Given the description of an element on the screen output the (x, y) to click on. 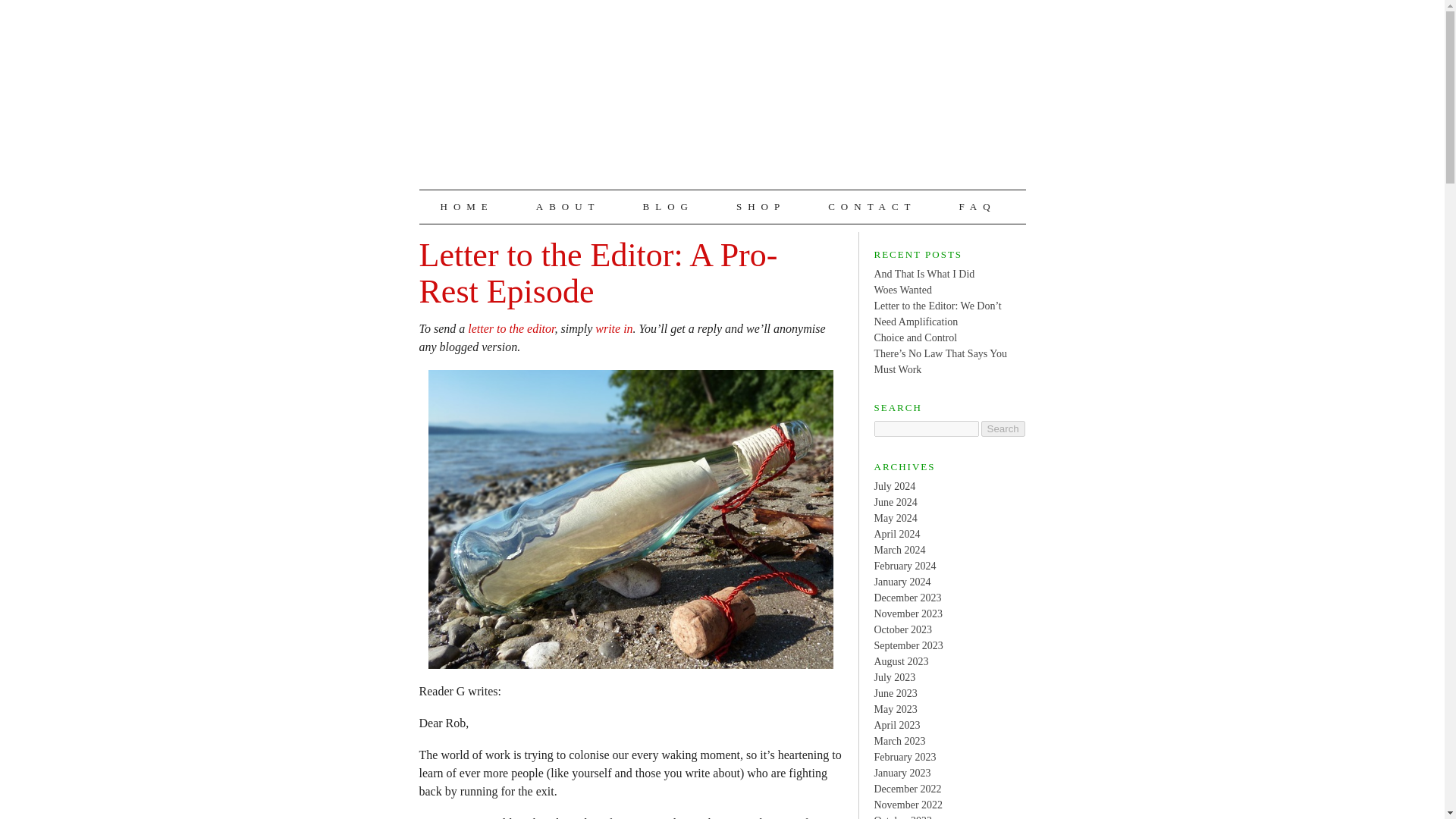
BLOG (668, 206)
January 2024 (901, 582)
June 2023 (895, 692)
SHOP (760, 206)
November 2023 (907, 613)
Search (1003, 428)
March 2024 (898, 550)
December 2023 (906, 596)
June 2024 (895, 501)
Letter to the Editor: A Pro-Rest Episode (598, 273)
write in (613, 328)
August 2023 (900, 660)
HOME (466, 206)
April 2024 (896, 532)
July 2023 (894, 677)
